Given the description of an element on the screen output the (x, y) to click on. 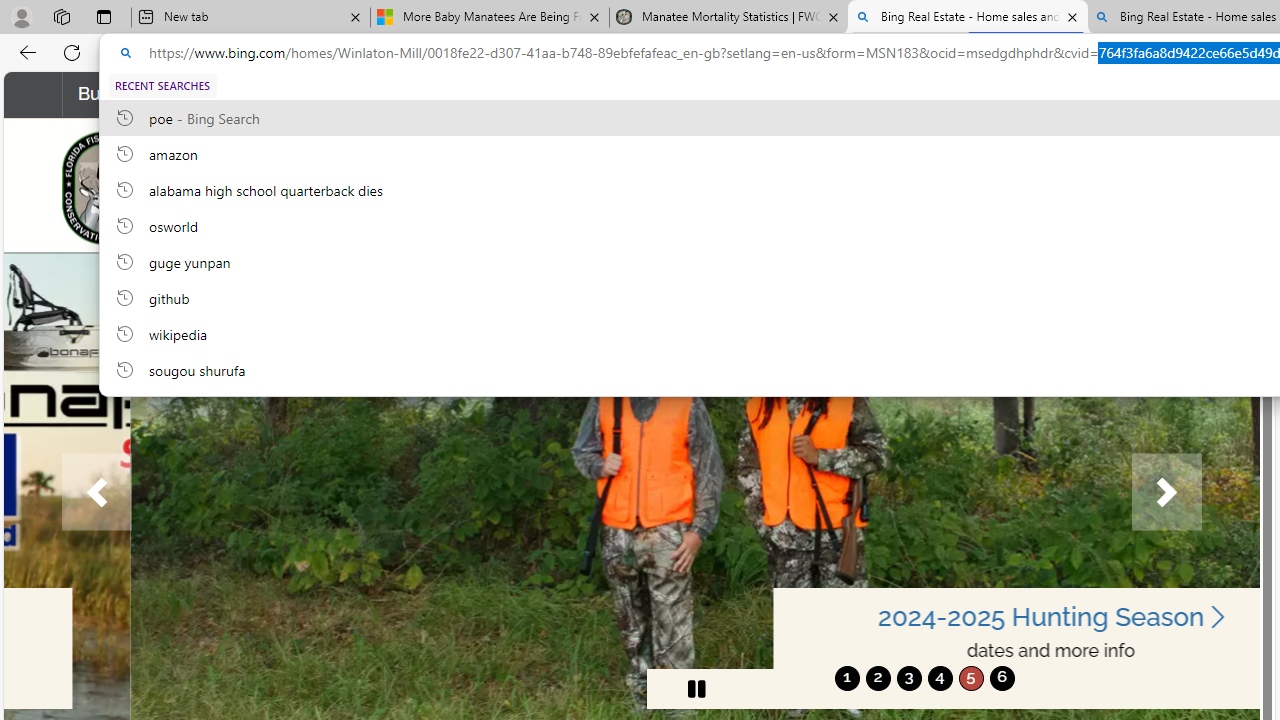
move to slide 6 (1002, 678)
Previous (96, 491)
Manatee Mortality Statistics | FWC (729, 17)
Engaging in Conservation (631, 94)
About Us (1138, 94)
Buy and Apply (146, 94)
5 (970, 678)
3 (908, 678)
4 (939, 678)
Places To Go (998, 94)
